Given the description of an element on the screen output the (x, y) to click on. 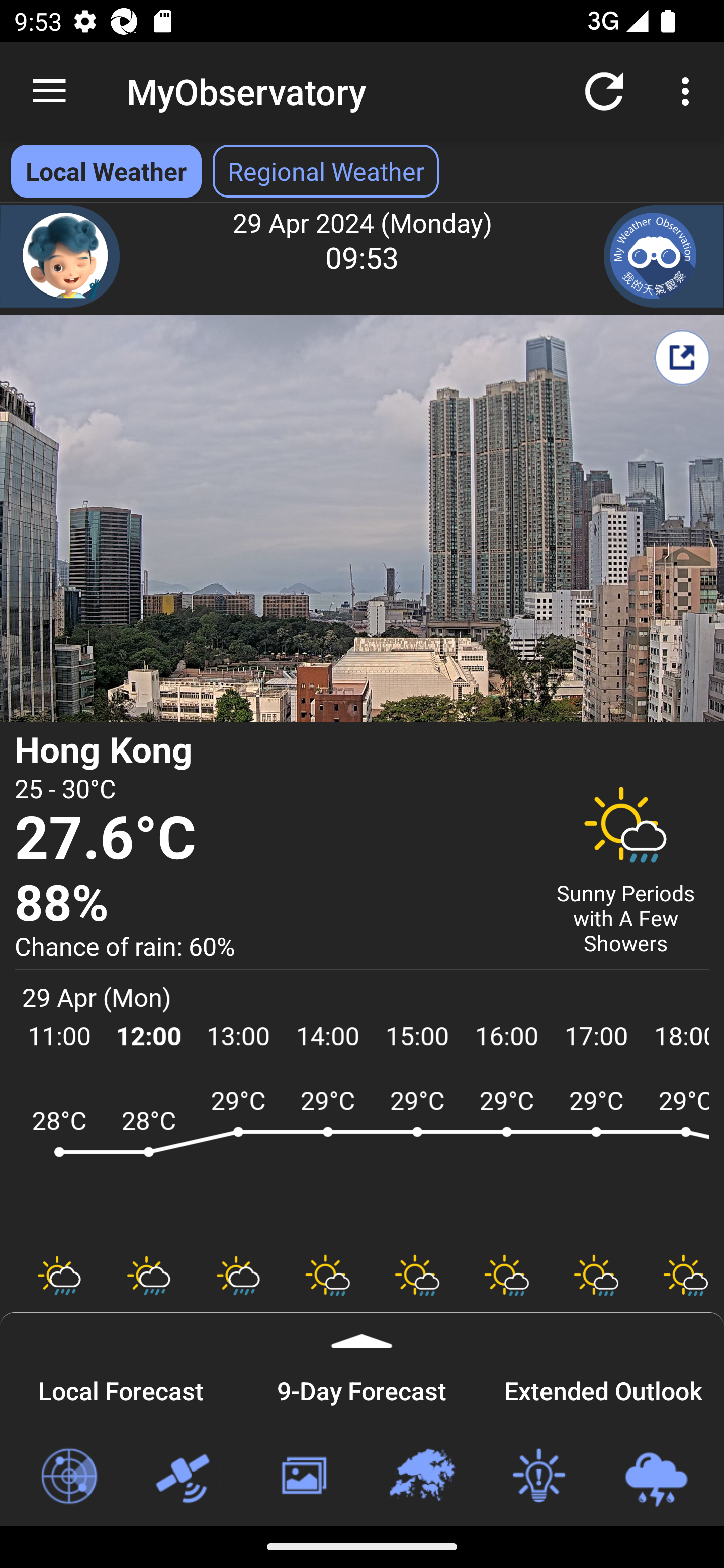
Navigate up (49, 91)
Refresh (604, 90)
More options (688, 90)
Local Weather Local Weather selected (105, 170)
Regional Weather Select Regional Weather (325, 170)
Chatbot (60, 256)
My Weather Observation (663, 256)
Share My Weather Report (681, 357)
27.6°C Temperature
27.6 degree Celsius (270, 839)
88% Relative Humidity
88 percent (270, 903)
ARWF (361, 1160)
Expand (362, 1330)
Local Forecast (120, 1387)
Extended Outlook (603, 1387)
Radar Images (68, 1476)
Satellite Images (185, 1476)
Weather Photos (302, 1476)
Regional Weather (420, 1476)
Weather Tips (537, 1476)
Loc-based Rain & Lightning Forecast (655, 1476)
